Given the description of an element on the screen output the (x, y) to click on. 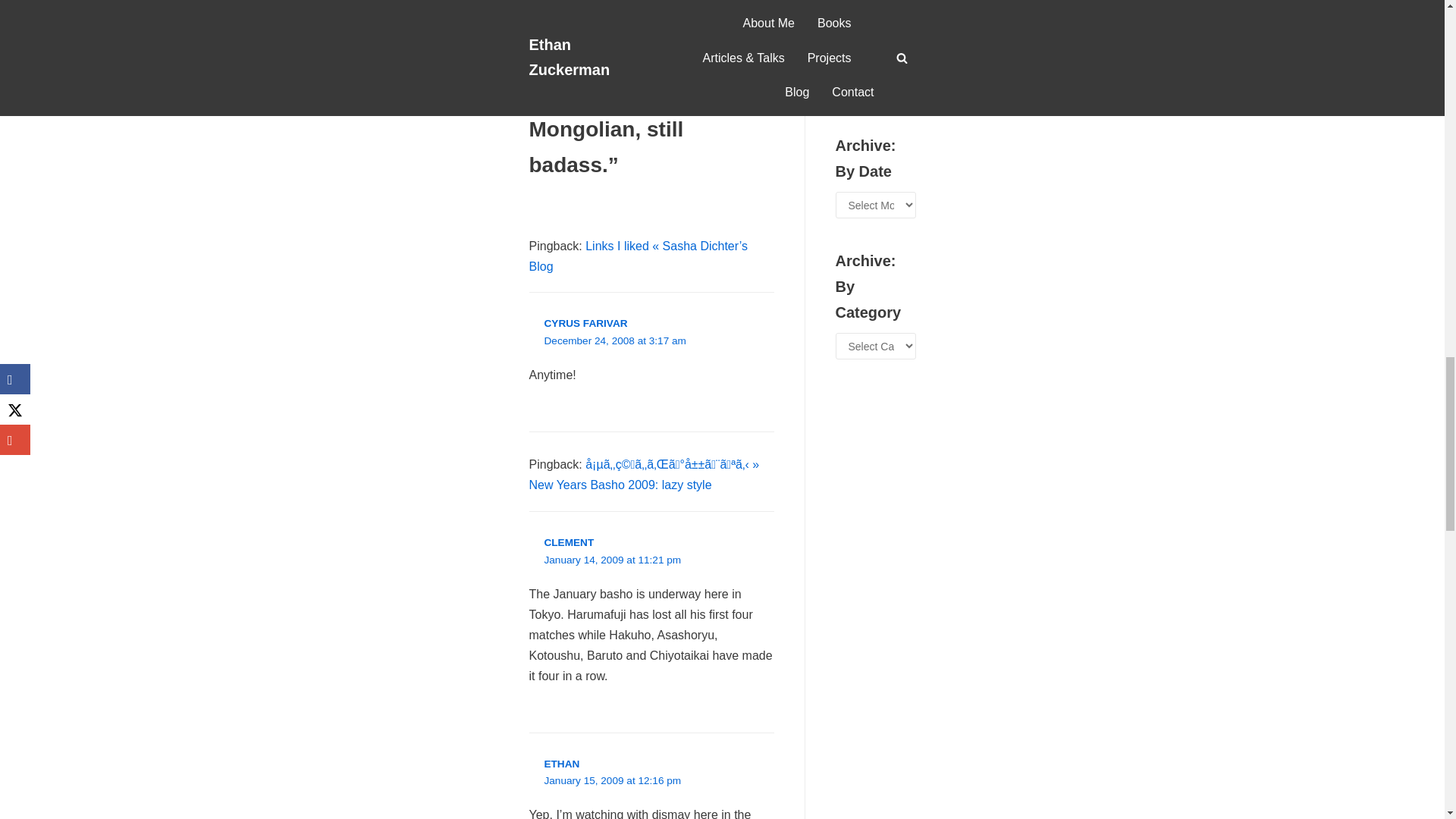
January 15, 2009 at 12:16 pm (612, 781)
CYRUS FARIVAR (585, 323)
December 24, 2008 at 3:17 am (614, 341)
January 14, 2009 at 11:21 pm (612, 560)
ETHAN (561, 763)
CLEMENT (569, 542)
